Given the description of an element on the screen output the (x, y) to click on. 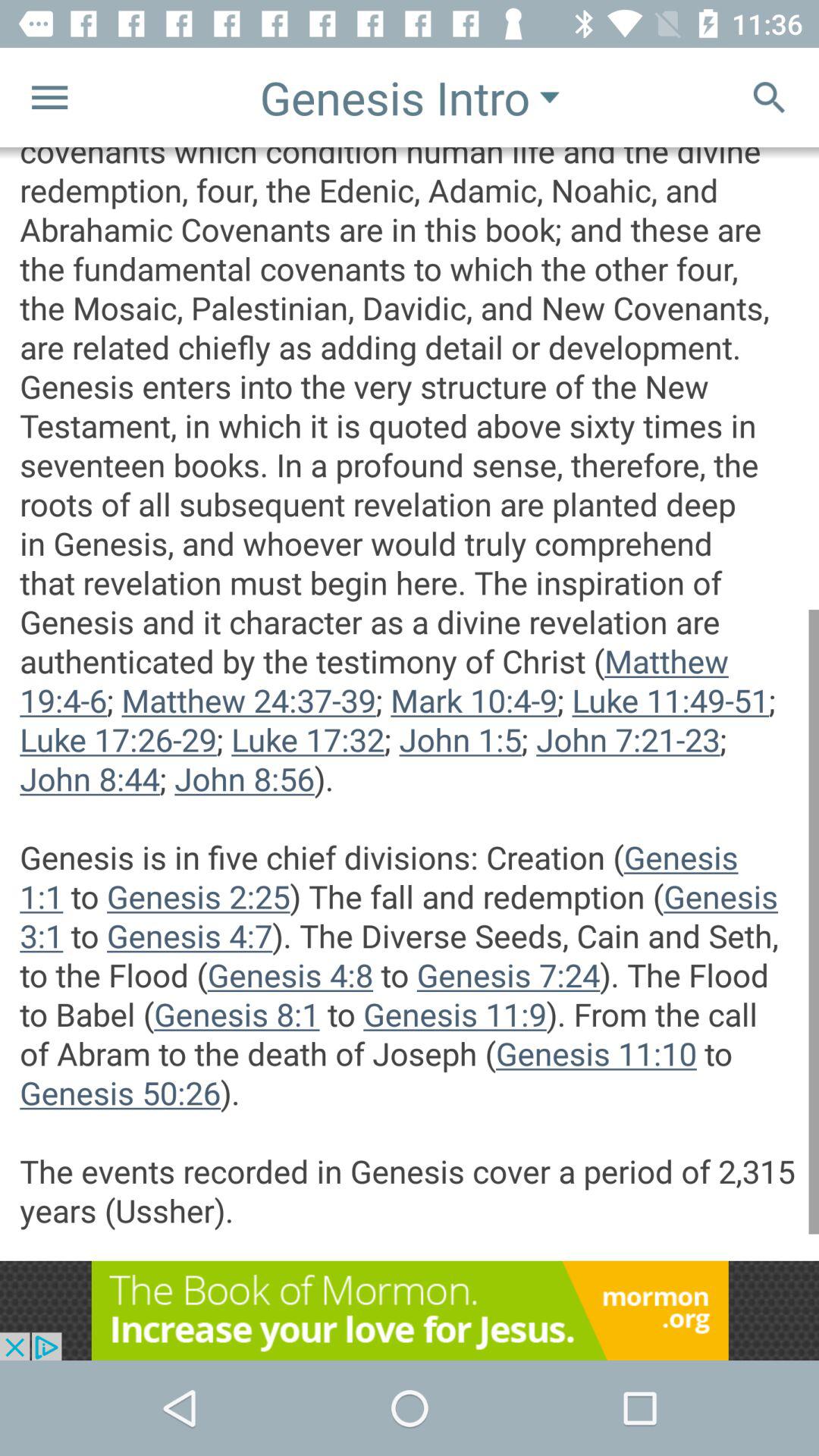
search text (769, 97)
